Given the description of an element on the screen output the (x, y) to click on. 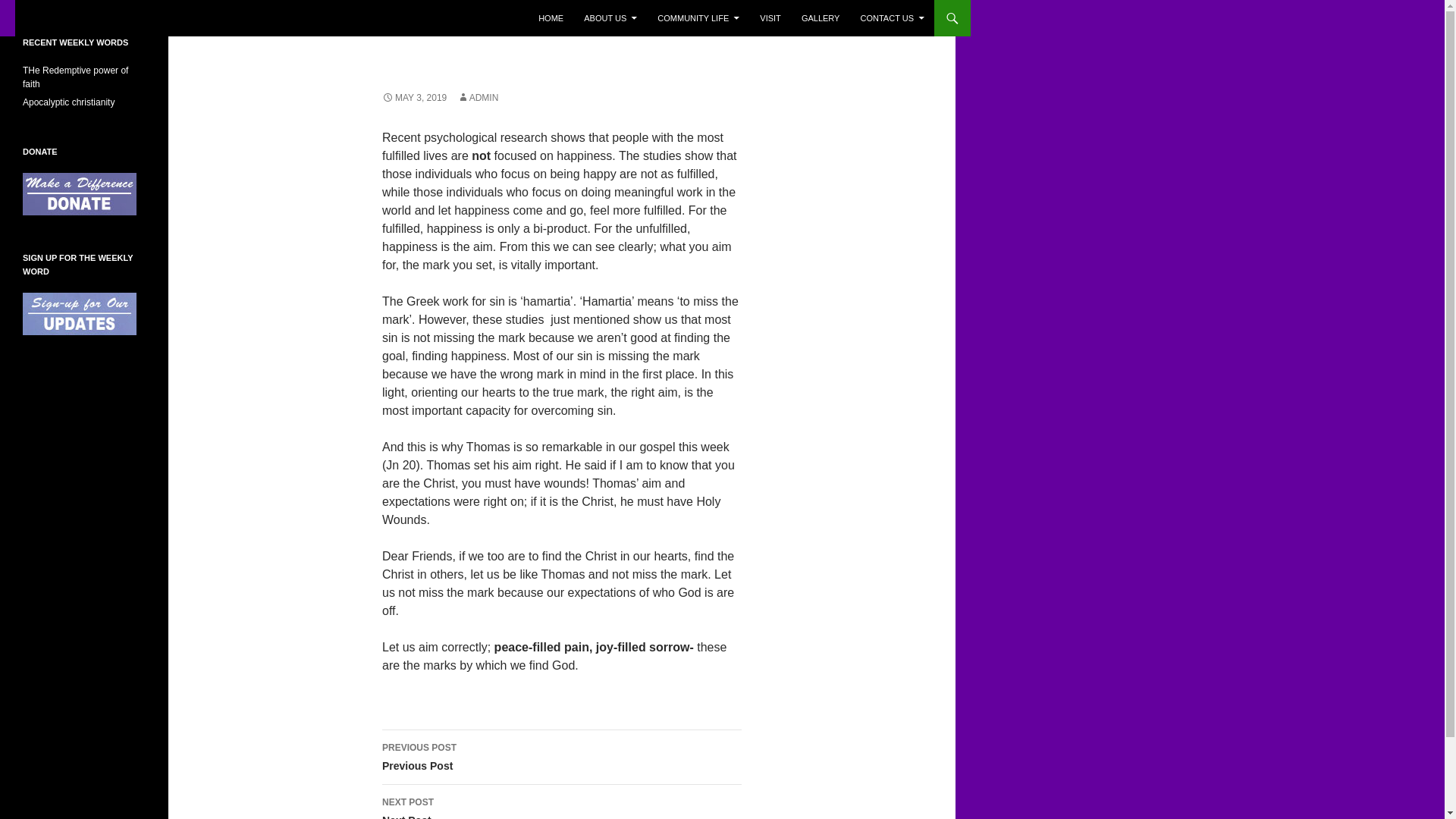
ADMIN (478, 97)
VISIT (770, 18)
Apocalyptic christianity (69, 102)
COMMUNITY LIFE (697, 18)
ABOUT US (610, 18)
THe Redemptive power of faith (75, 77)
CONTACT US (891, 18)
GALLERY (820, 18)
